Given the description of an element on the screen output the (x, y) to click on. 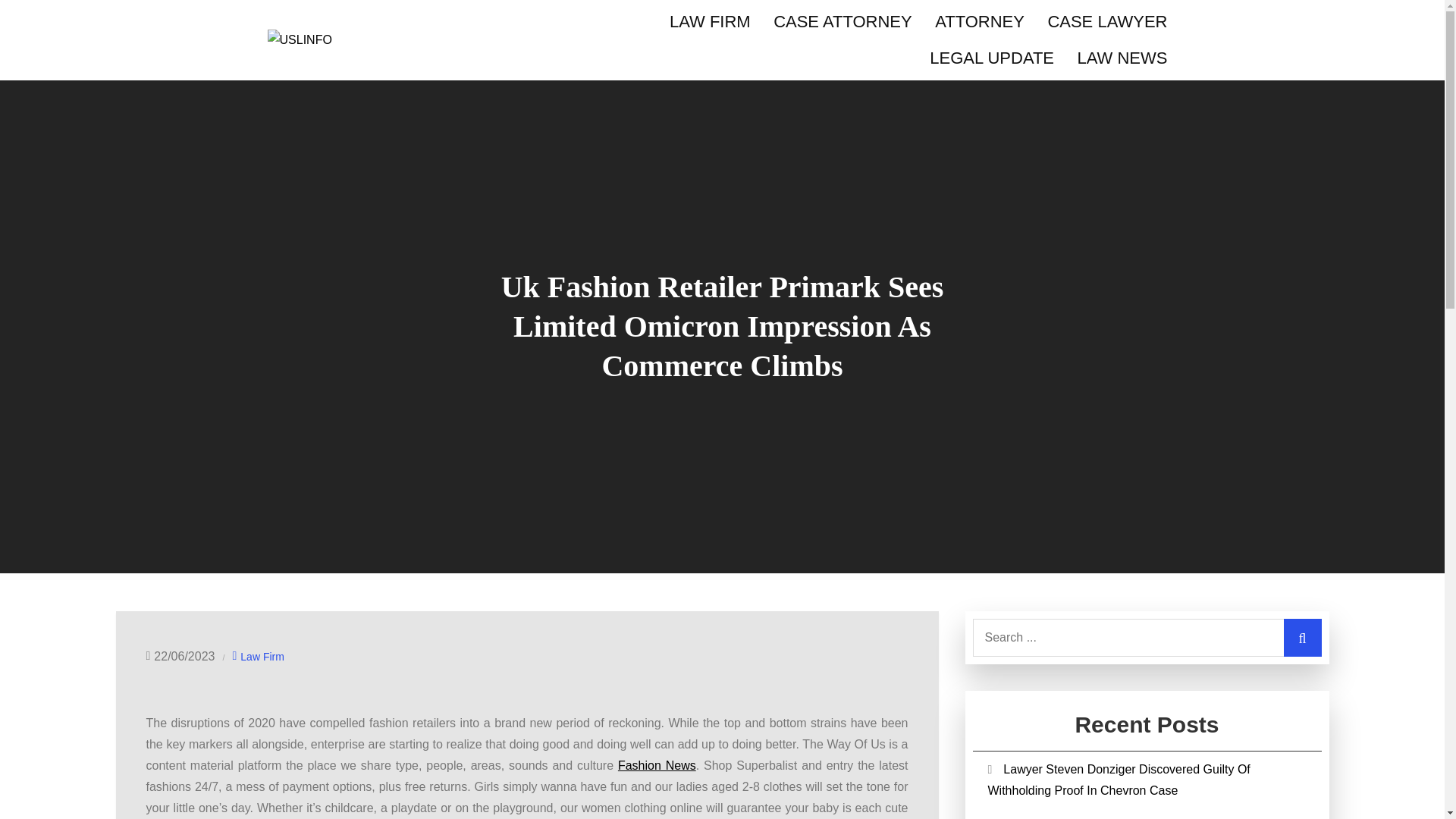
Search for: (1146, 637)
LAW NEWS (1122, 58)
CASE LAWYER (1106, 22)
USLINFO (337, 71)
Search (1301, 637)
CASE ATTORNEY (841, 22)
ATTORNEY (978, 22)
LEGAL UPDATE (992, 58)
Law Firm (261, 656)
Fashion News (656, 765)
LAW FIRM (709, 22)
